Given the description of an element on the screen output the (x, y) to click on. 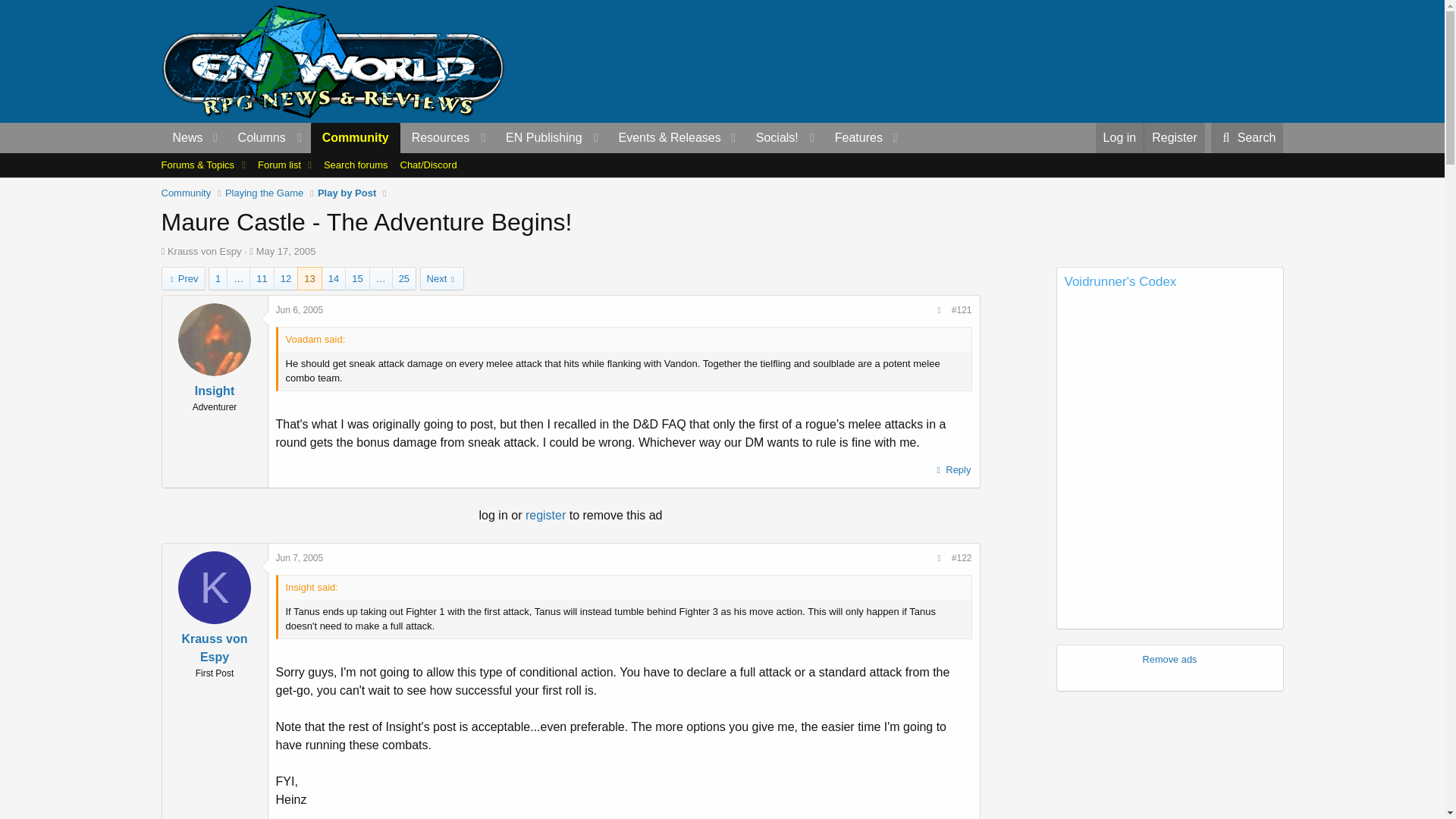
Search (1247, 137)
Jun 7, 2005 at 2:03 AM (299, 557)
Jun 6, 2005 at 7:25 PM (299, 309)
News (181, 137)
Reply, quoting this message (952, 817)
Columns (269, 137)
Reply, quoting this message (952, 469)
Go to page (237, 278)
Go to page (380, 278)
Community (355, 137)
May 17, 2005 at 4:30 PM (285, 251)
